Given the description of an element on the screen output the (x, y) to click on. 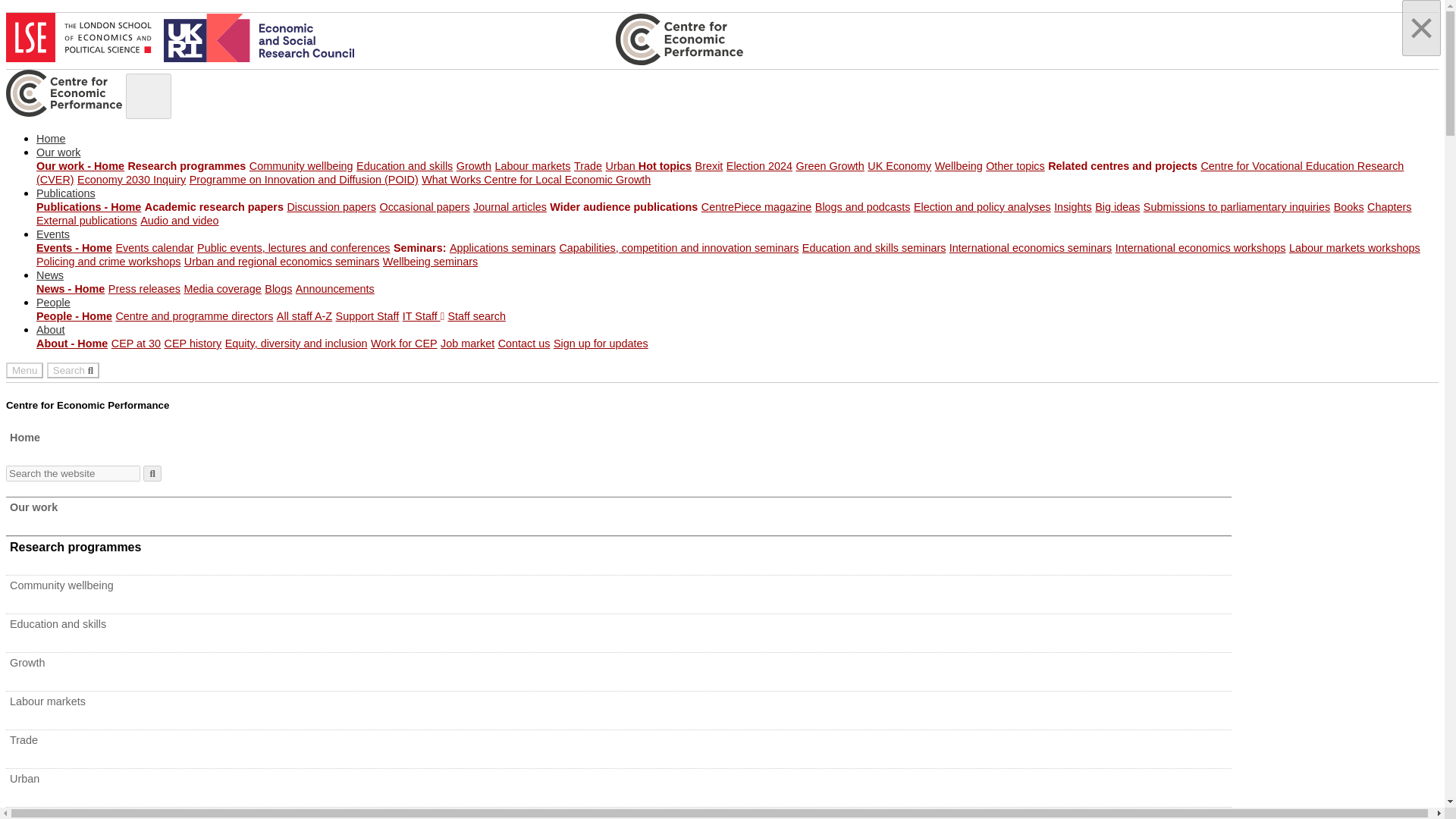
Economy 2030 Inquiry (131, 179)
Publications - Home (88, 206)
Publications (66, 193)
Wider audience publications (623, 206)
Labour markets (532, 165)
Journal articles (510, 206)
Occasional papers (423, 206)
Our work (58, 152)
Discussion papers (330, 206)
Growth (474, 165)
Related centres and projects (1122, 165)
Brexit (709, 165)
Trade (587, 165)
Academic research papers (213, 206)
